Given the description of an element on the screen output the (x, y) to click on. 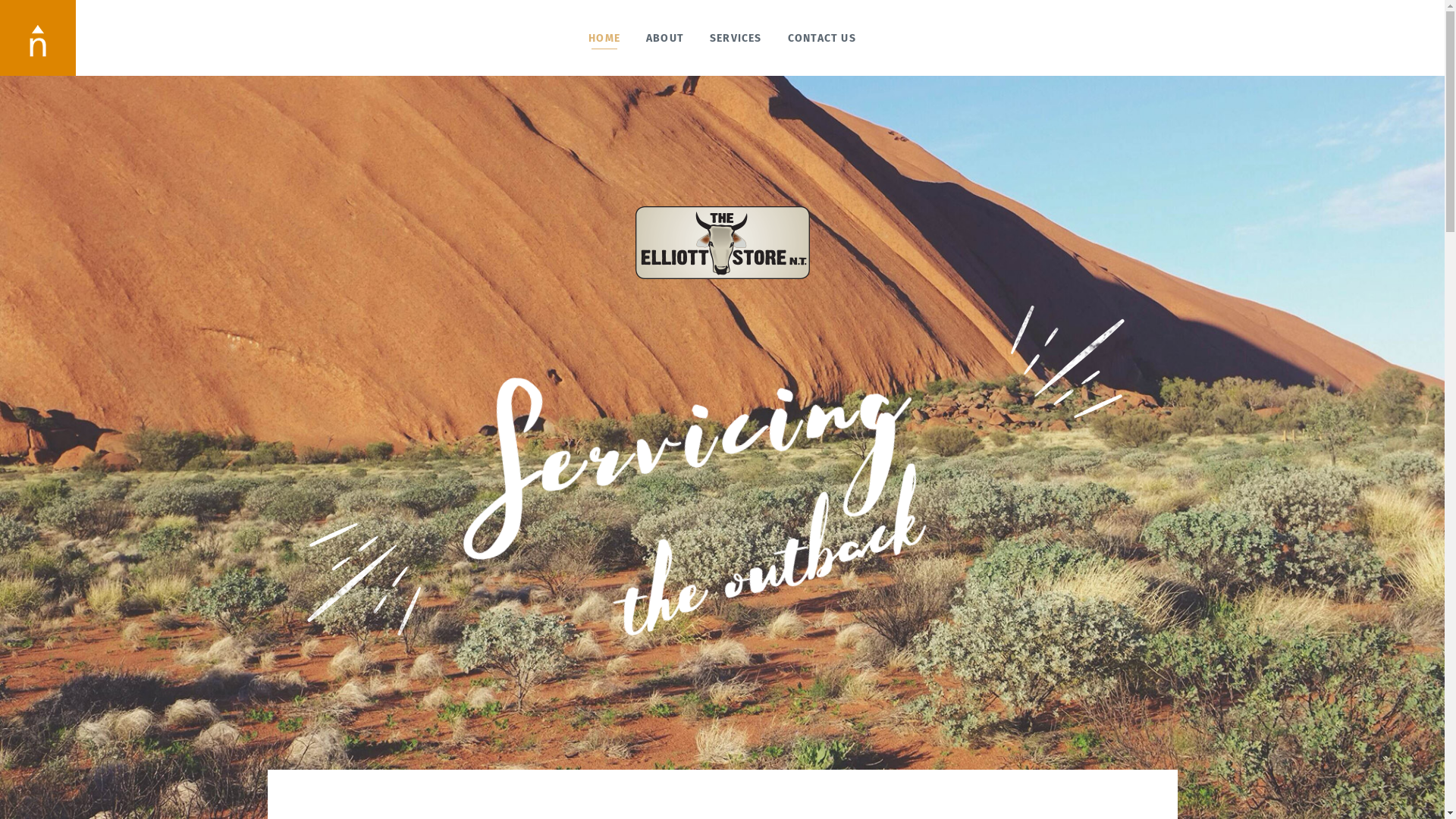
CONTACT US Element type: text (821, 37)
SERVICES Element type: text (735, 37)
HOME Element type: text (604, 37)
Back to Northern Interests Element type: hover (37, 37)
ABOUT Element type: text (664, 37)
